Given the description of an element on the screen output the (x, y) to click on. 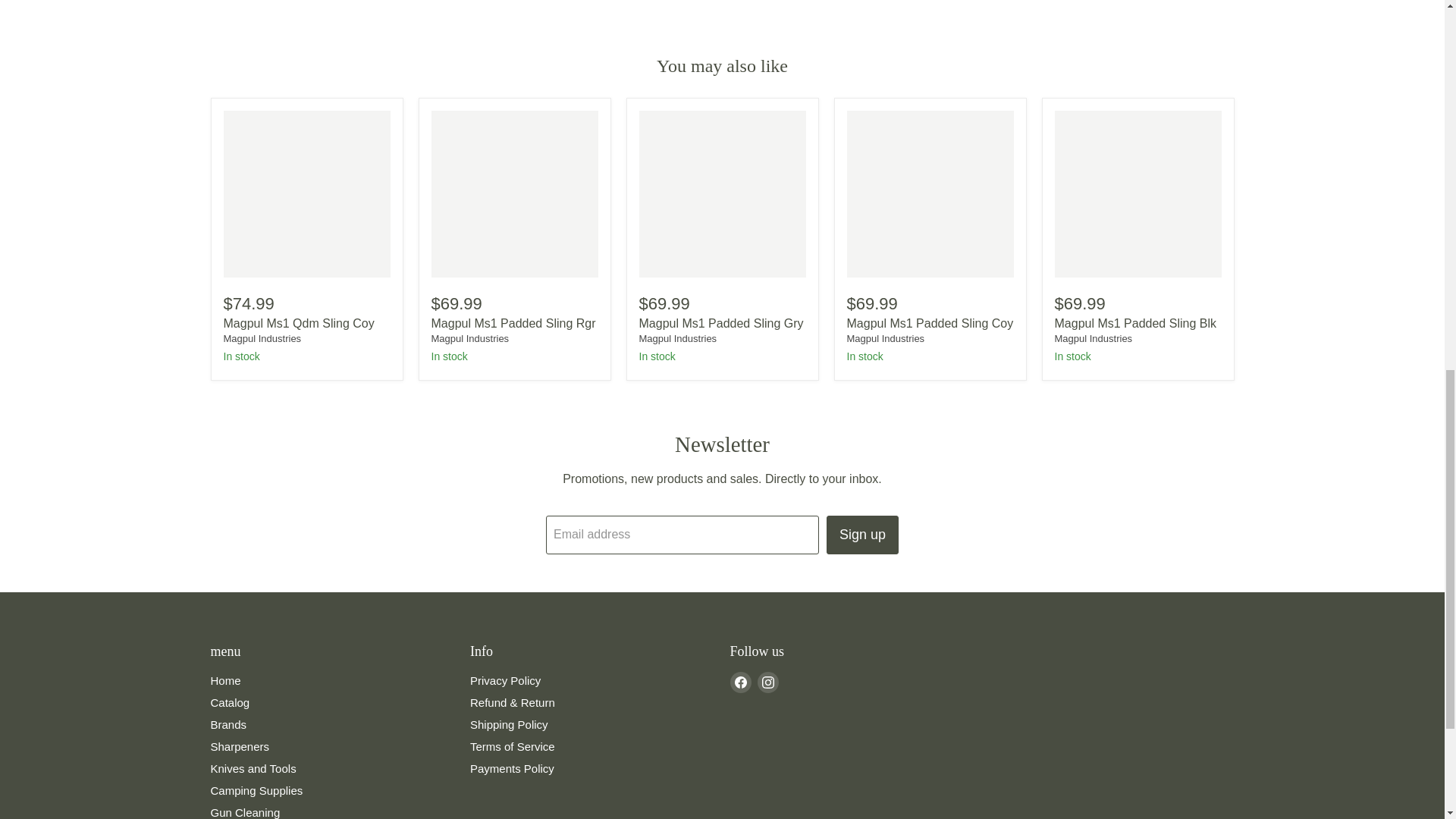
Facebook (740, 681)
Instagram (767, 681)
Magpul Industries (1093, 337)
Magpul Industries (884, 337)
Magpul Industries (469, 337)
Magpul Industries (677, 337)
Magpul Industries (261, 337)
